Given the description of an element on the screen output the (x, y) to click on. 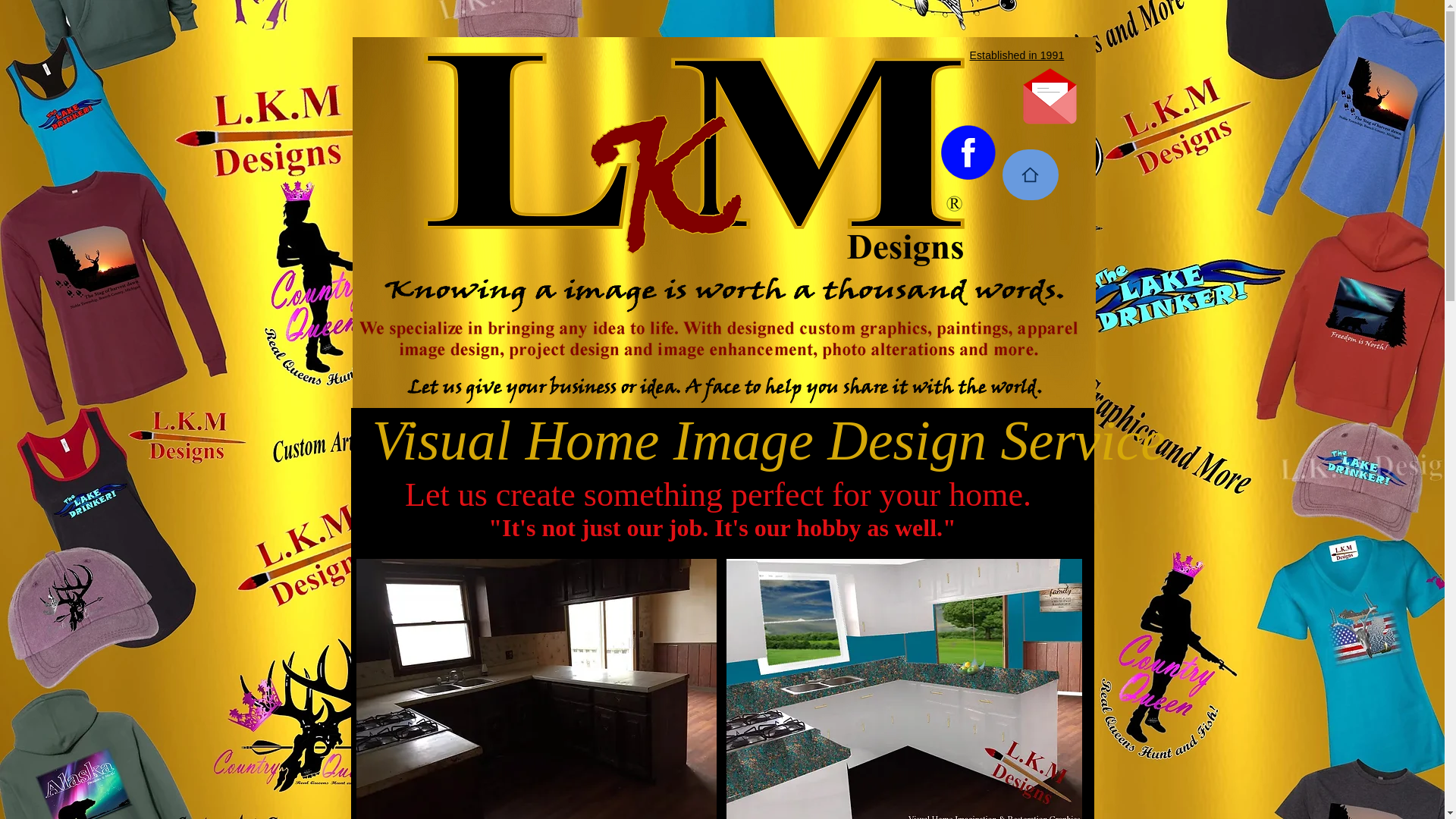
Visual Home Image Design Service (768, 440)
Project1.png (727, 385)
Established in 1991   (720, 479)
Project3.png (720, 337)
Established in 1991 (1016, 55)
Project2.png (723, 287)
